Given the description of an element on the screen output the (x, y) to click on. 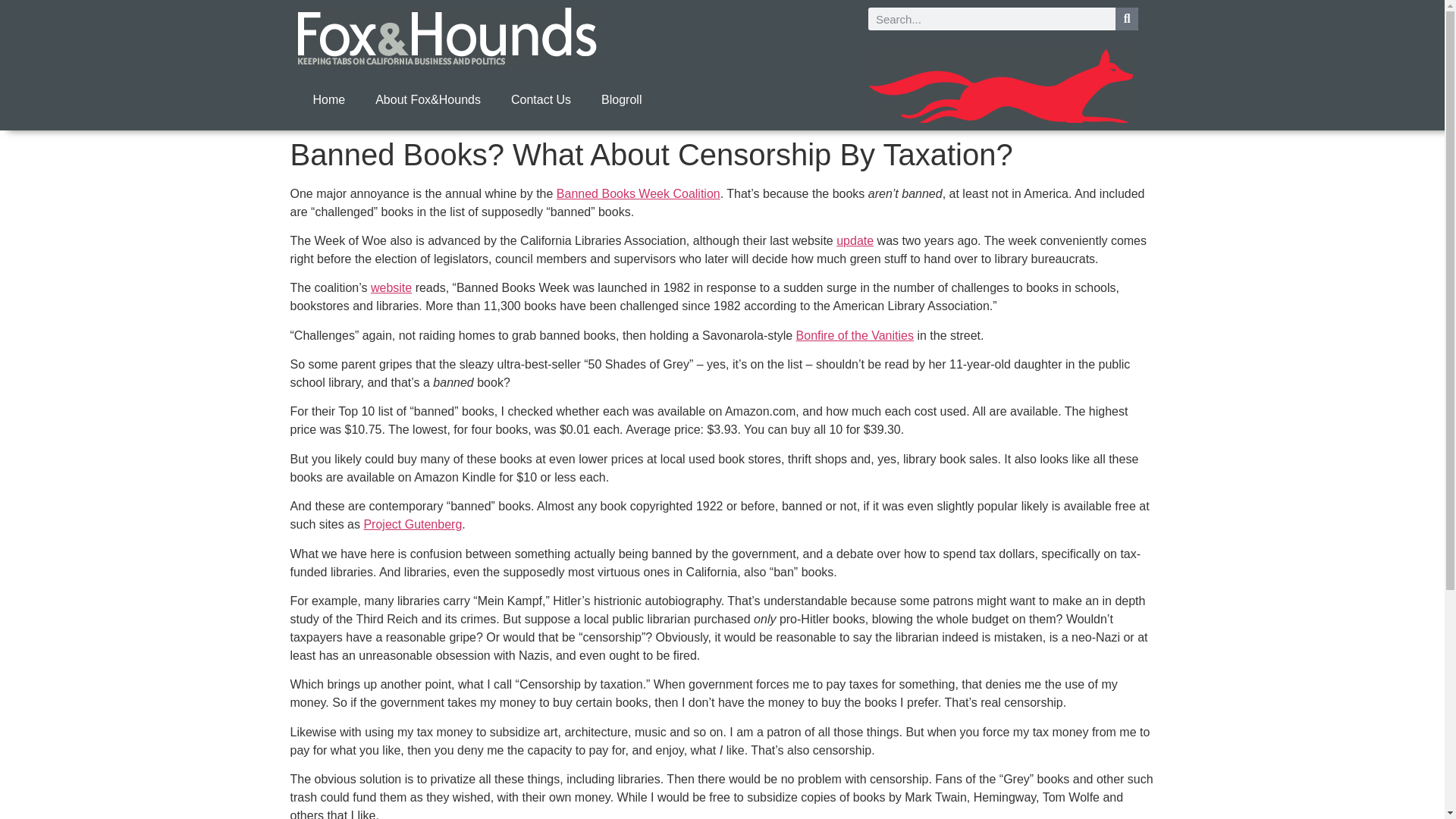
Bonfire of the Vanities (855, 335)
website (391, 287)
Project Gutenberg (411, 523)
Blogroll (621, 99)
Home (328, 99)
Contact Us (541, 99)
update (854, 240)
Banned Books Week Coalition (638, 193)
